Given the description of an element on the screen output the (x, y) to click on. 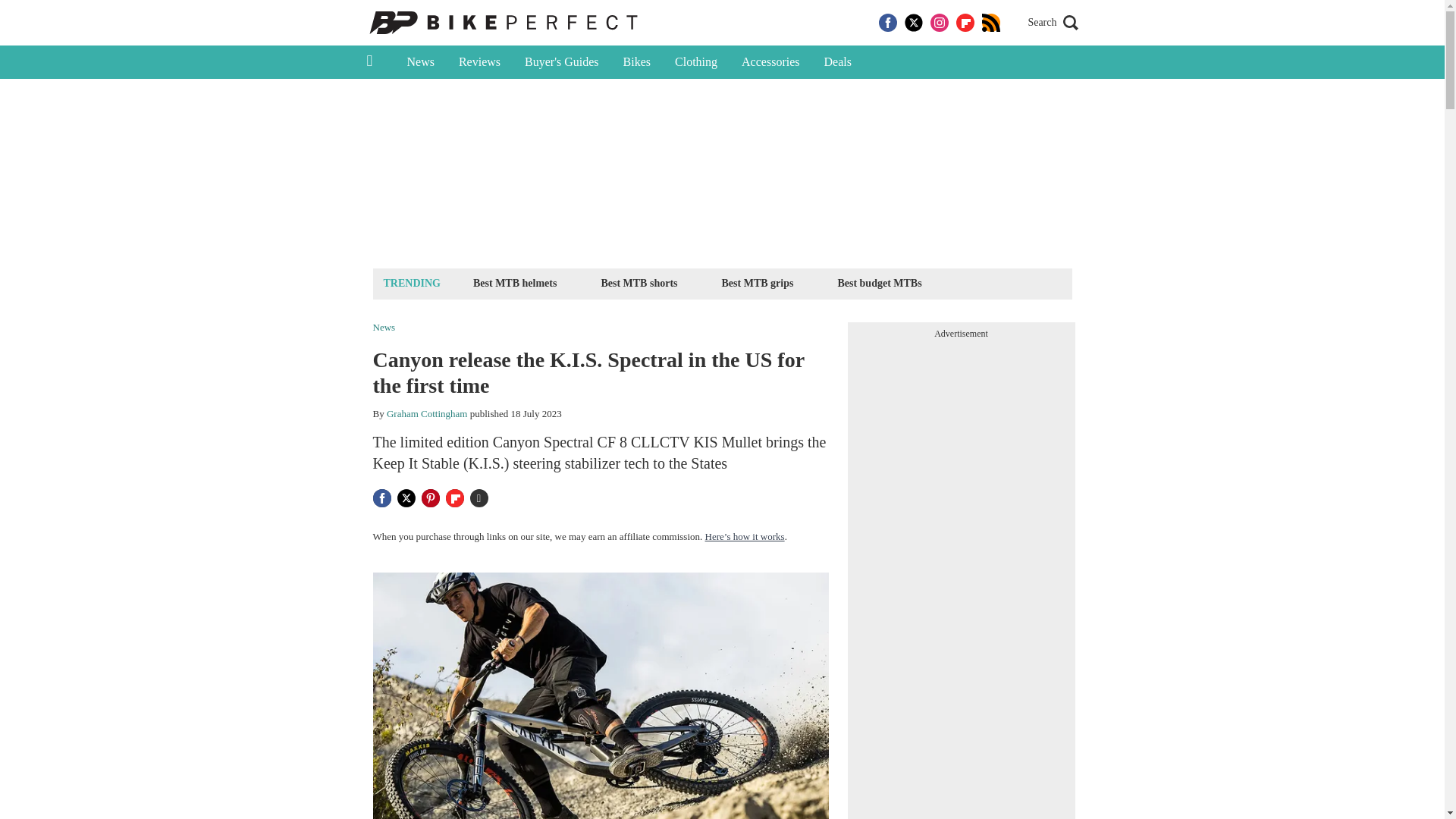
Best MTB helmets (514, 282)
Buyer's Guides (561, 61)
Bikes (636, 61)
Best MTB grips (757, 282)
Best budget MTBs (878, 282)
Deals (836, 61)
News (419, 61)
Best MTB shorts (638, 282)
Reviews (479, 61)
Clothing (695, 61)
